Given the description of an element on the screen output the (x, y) to click on. 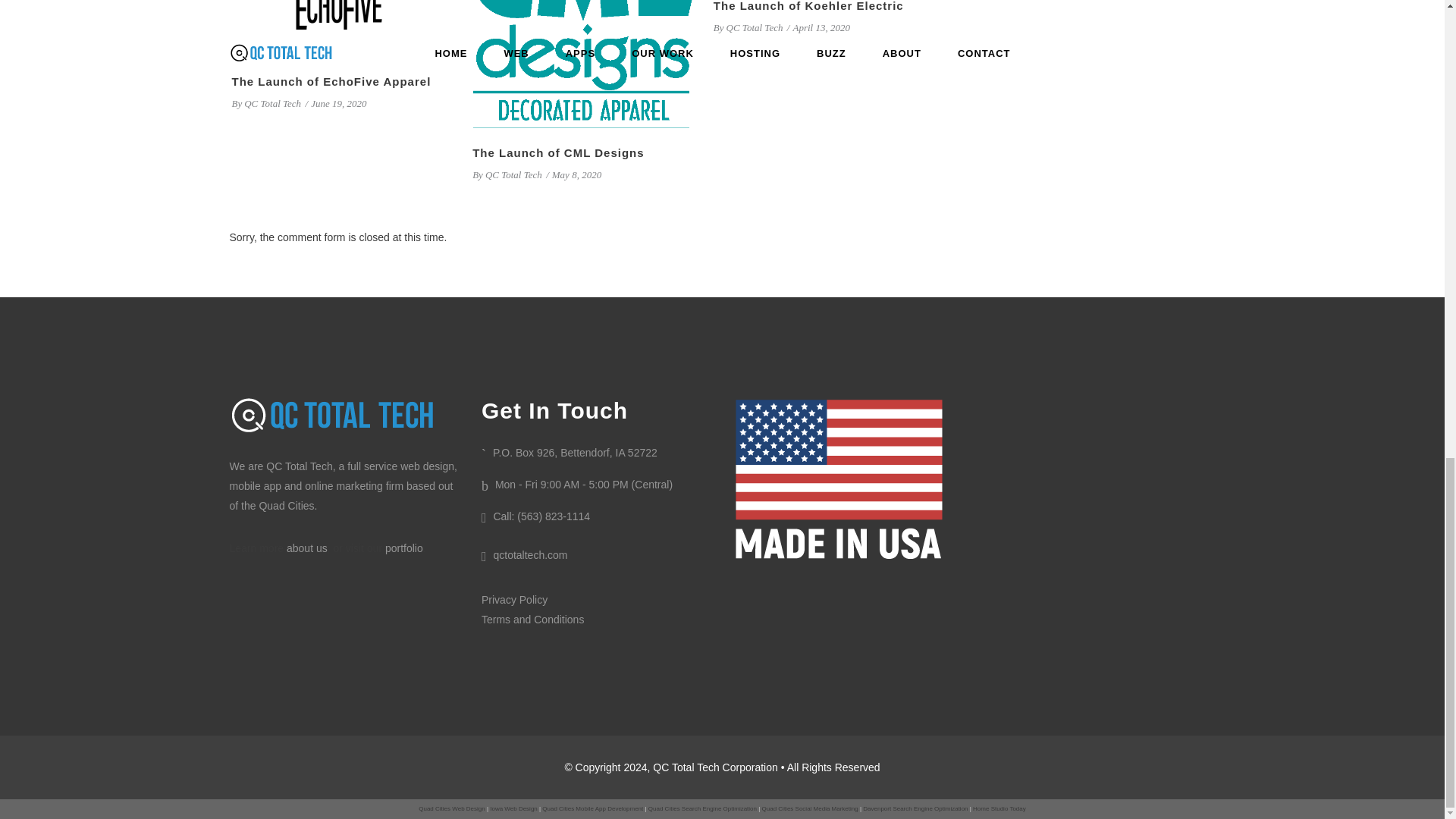
The Launch of EchoFive Apparel (330, 81)
The Launch of CML Designs (557, 152)
The Launch of Koehler Electric (808, 6)
The Launch of EchoFive Apparel (341, 28)
The Launch of CML Designs (582, 63)
